Given the description of an element on the screen output the (x, y) to click on. 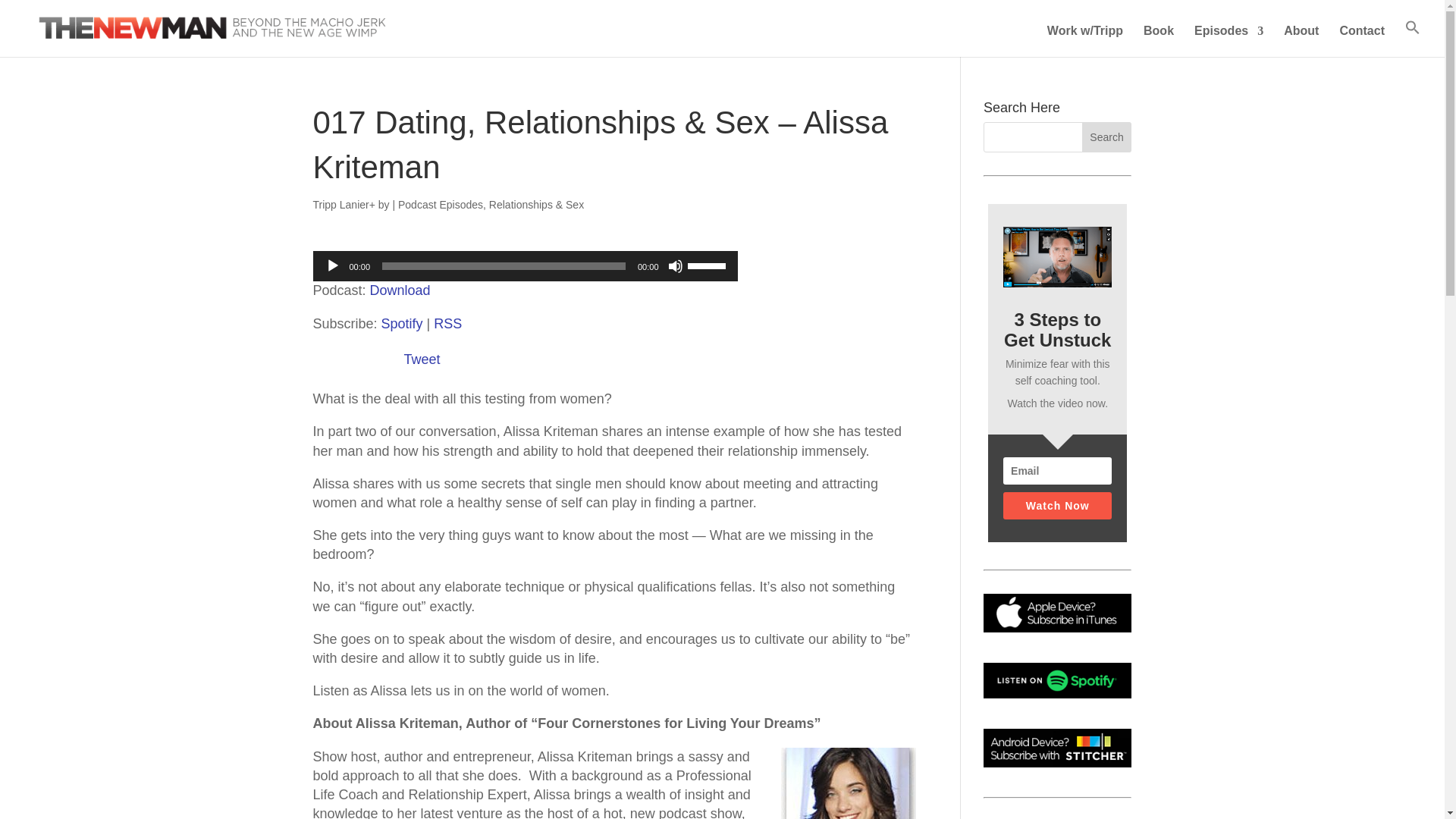
Search (1106, 137)
Book (1157, 40)
Play (331, 265)
Download (399, 290)
Posts by Tripp Lanier (340, 204)
Mute (674, 265)
Contact (1361, 40)
RSS (447, 323)
Episodes (1228, 40)
Tripp Lanier (340, 204)
Podcast Episodes (440, 204)
h-alissa-kriteman-SM (847, 783)
Subscribe via RSS (447, 323)
About (1301, 40)
Download (399, 290)
